Given the description of an element on the screen output the (x, y) to click on. 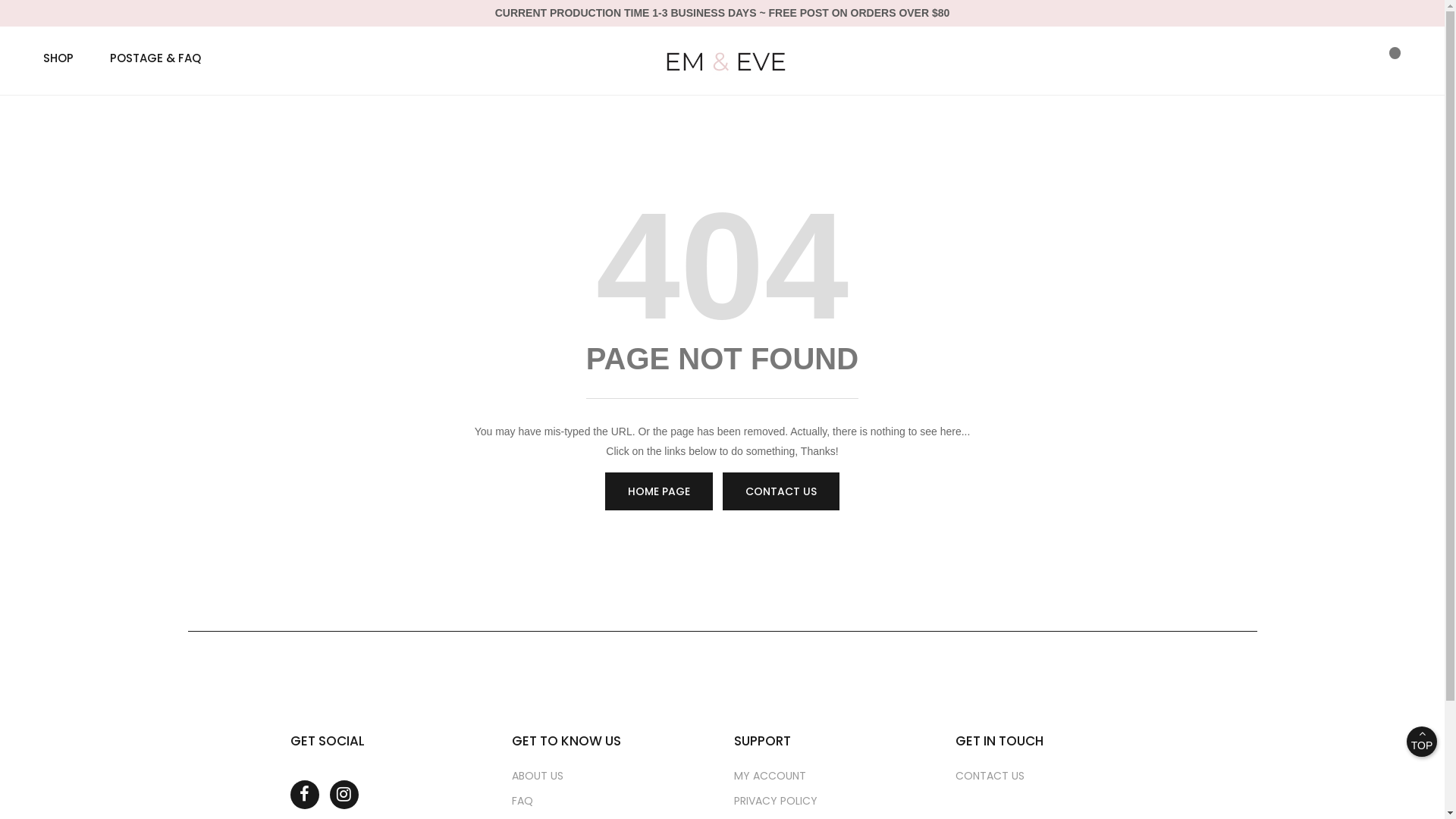
TOP Element type: text (1421, 741)
MY ACCOUNT Element type: text (770, 775)
HOME PAGE Element type: text (658, 491)
ABOUT US Element type: text (537, 775)
CONTACT US Element type: text (989, 775)
Instagram Element type: hover (343, 794)
FAQ Element type: text (522, 800)
POSTAGE & FAQ Element type: text (155, 58)
PRIVACY POLICY Element type: text (775, 800)
SHOP Element type: text (67, 58)
Em and Eve Personalised Jewellery Element type: hover (721, 61)
Em and Eve Personalised Jewellery Element type: hover (721, 60)
Facebook Element type: hover (303, 794)
CONTACT US Element type: text (780, 491)
